Given the description of an element on the screen output the (x, y) to click on. 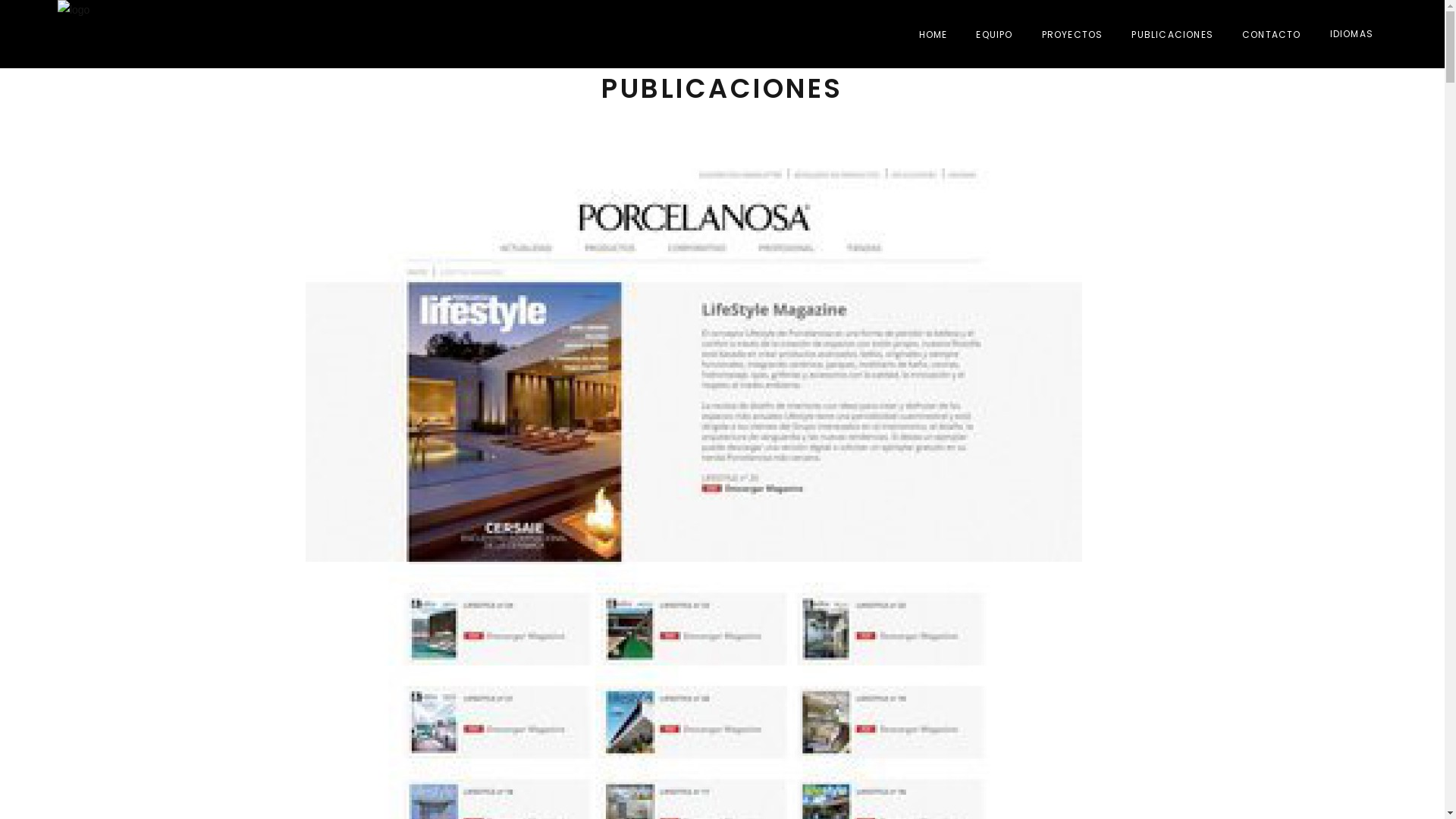
HOME Element type: text (933, 34)
IDIOMAS Element type: text (1351, 34)
PROYECTOS Element type: text (1072, 34)
EQUIPO Element type: text (993, 34)
PUBLICACIONES Element type: text (1172, 34)
CONTACTO Element type: text (1271, 34)
